Given the description of an element on the screen output the (x, y) to click on. 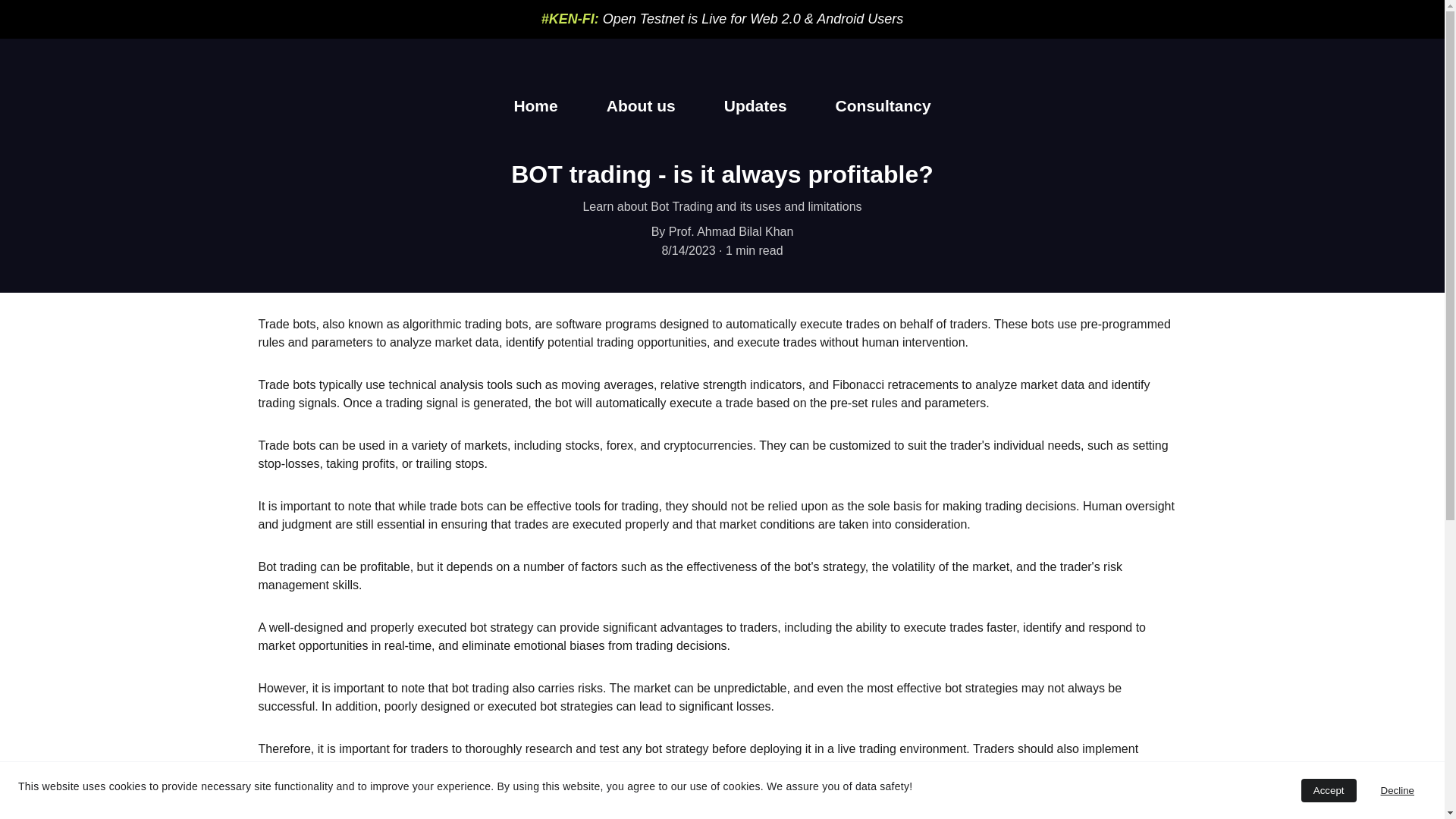
Accept (1328, 790)
Updates (755, 105)
About us (641, 105)
Home (535, 105)
Consultancy (883, 105)
Decline (1397, 790)
